Given the description of an element on the screen output the (x, y) to click on. 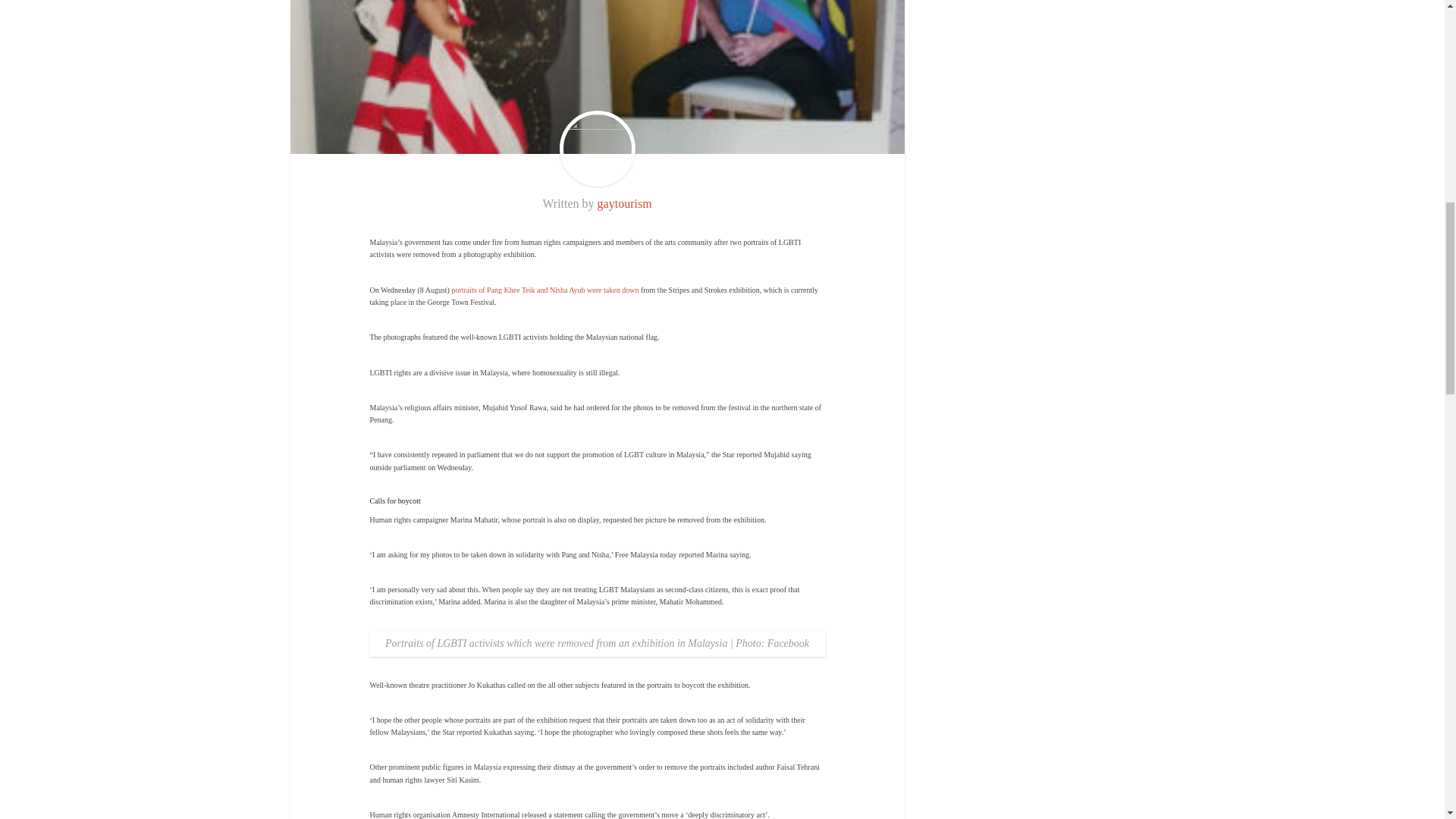
gaytourism (624, 203)
portraits of Pang Khee Teik and Nisha Ayub were taken down (544, 289)
